Given the description of an element on the screen output the (x, y) to click on. 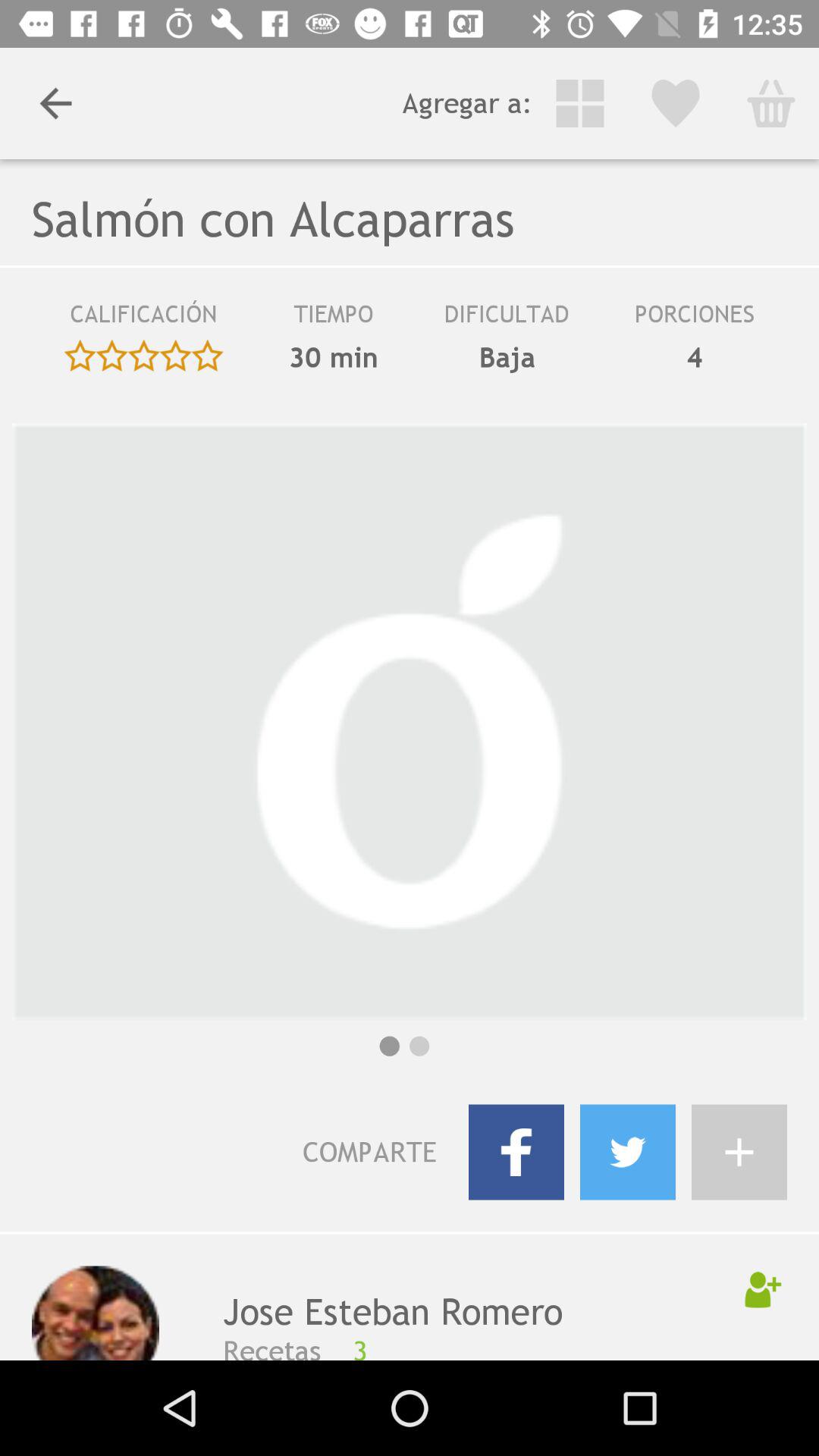
turn on the item to the right of the dificultad (694, 357)
